Given the description of an element on the screen output the (x, y) to click on. 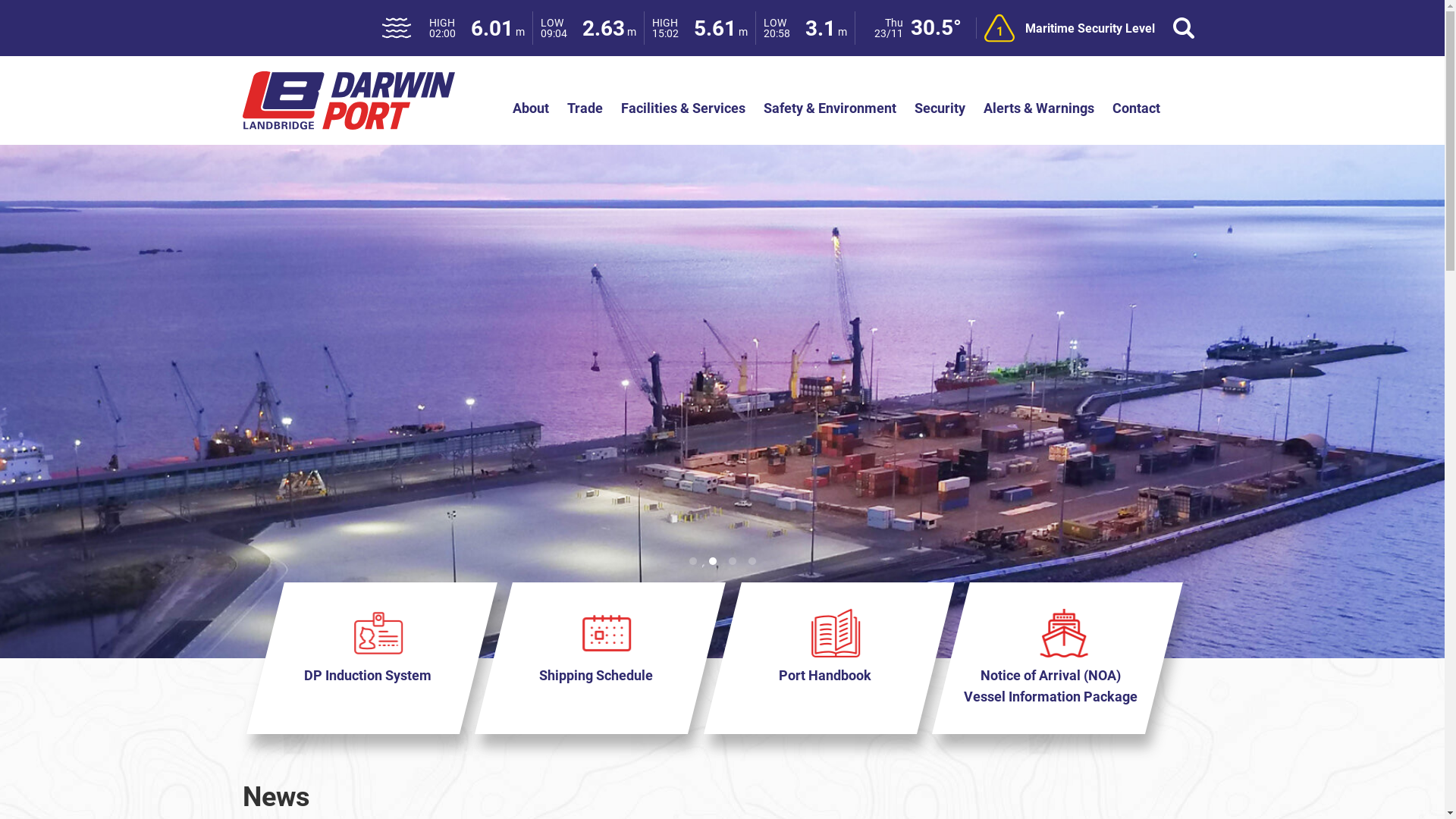
Shipping Schedule Element type: text (580, 658)
Skip to main content Element type: text (0, 0)
Search Element type: text (1183, 27)
DP Induction System Element type: text (352, 658)
Port Handbook Element type: text (809, 658)
Alerts & Warnings Element type: text (1037, 108)
Notice of Arrival (NOA) Vessel Information Package Element type: text (1038, 658)
Search Element type: text (39, 17)
